Given the description of an element on the screen output the (x, y) to click on. 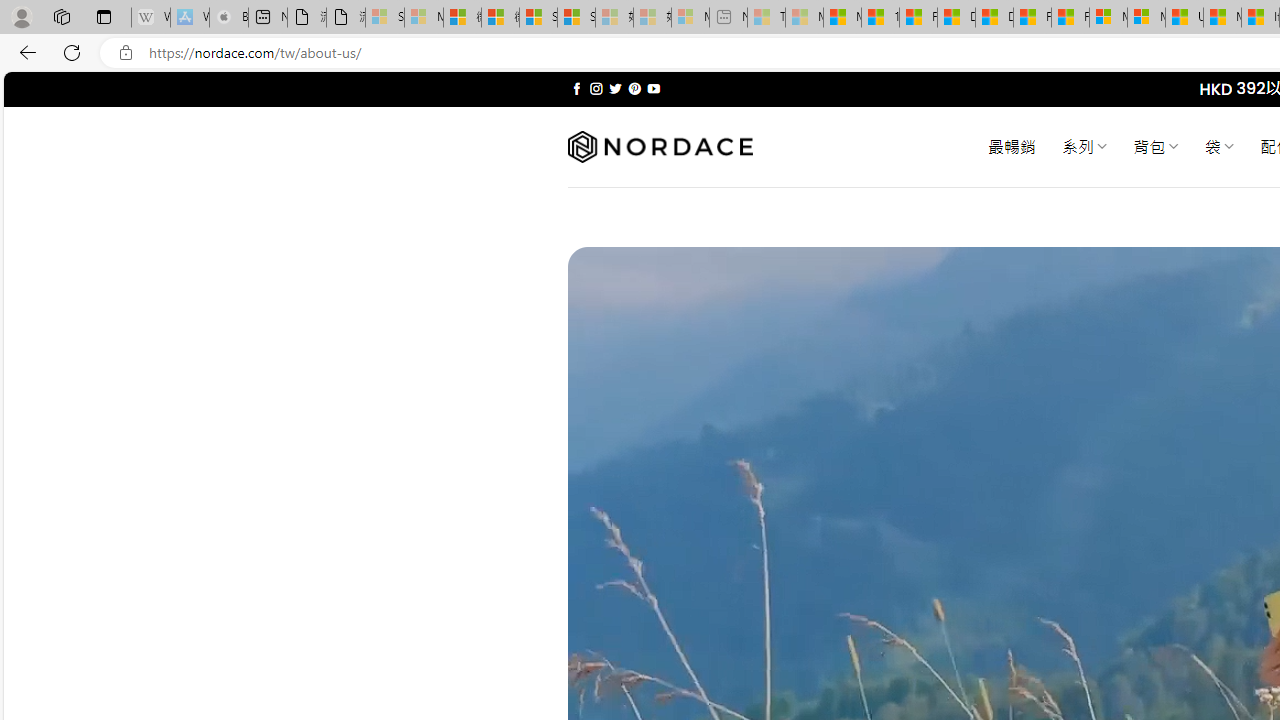
Buy iPad - Apple - Sleeping (228, 17)
Food and Drink - MSN (917, 17)
